Given the description of an element on the screen output the (x, y) to click on. 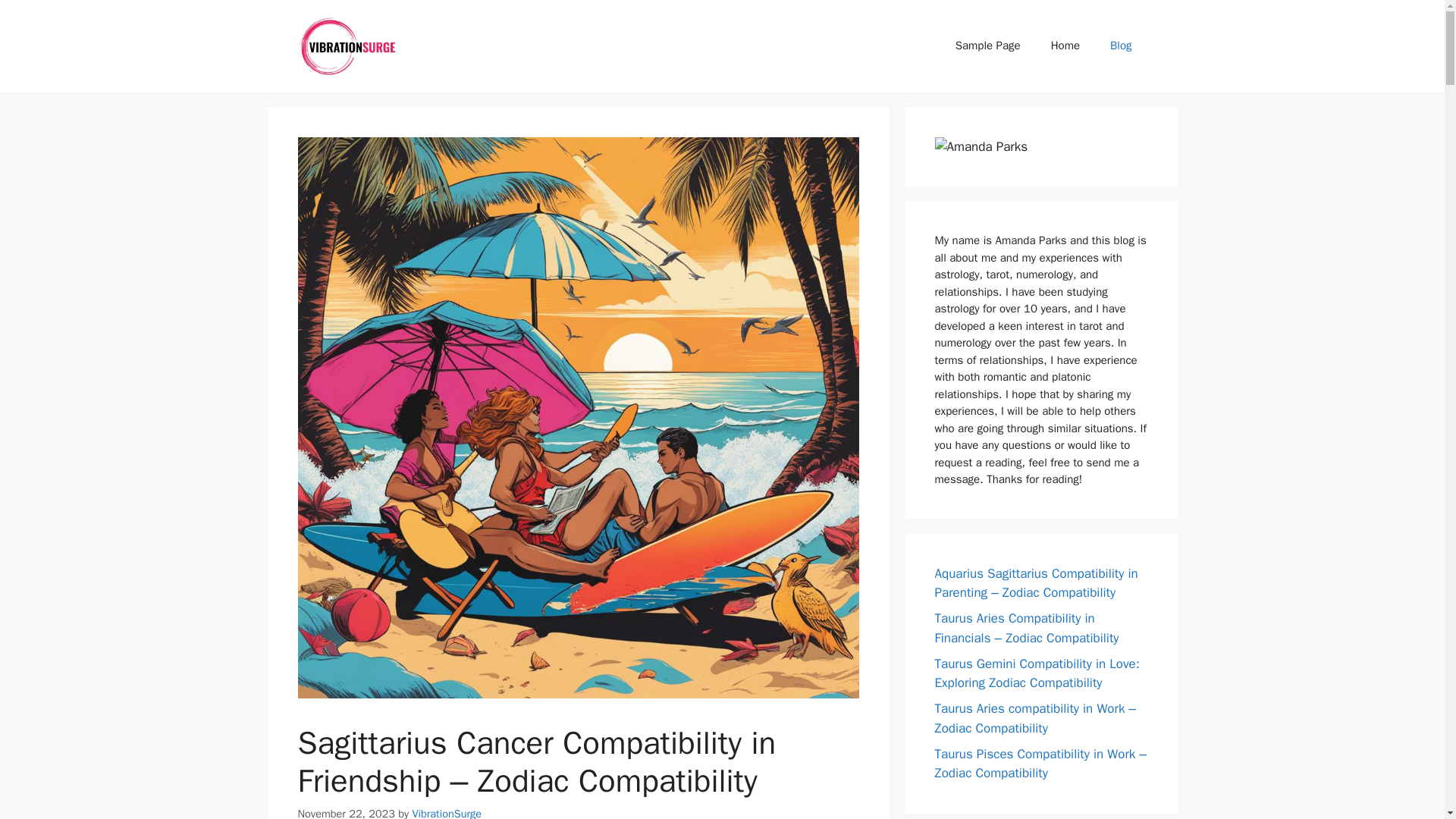
VibrationSurge (446, 812)
View all posts by VibrationSurge (446, 812)
Blog (1120, 44)
Home (1064, 44)
Sample Page (987, 44)
